Given the description of an element on the screen output the (x, y) to click on. 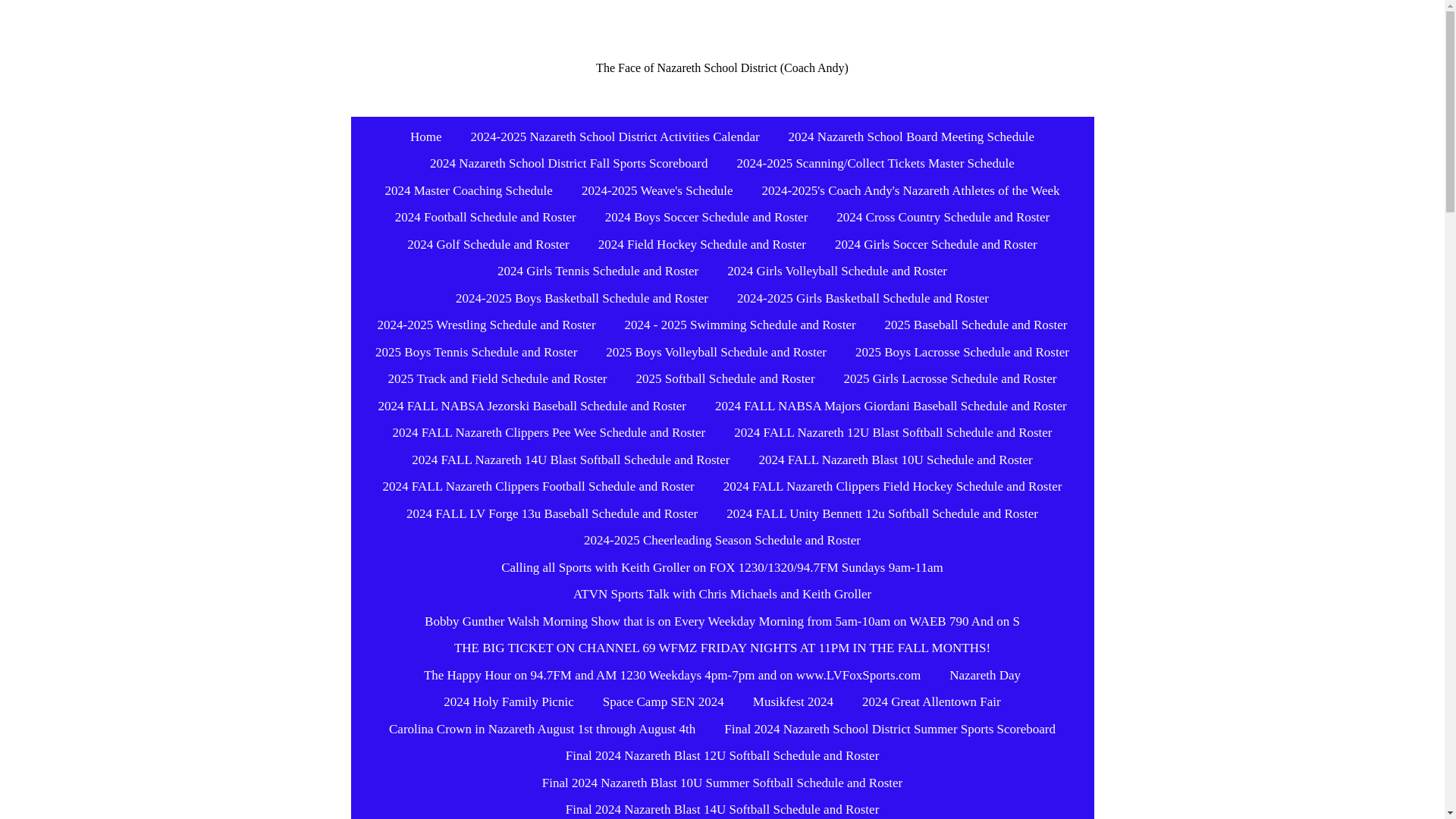
2024 Nazareth School District Fall Sports Scoreboard (568, 163)
2024 FALL Nazareth Clippers Pee Wee Schedule and Roster (548, 432)
2024 Girls Soccer Schedule and Roster (936, 243)
2024 FALL Nazareth Clippers Football Schedule and Roster (538, 486)
2024 Boys Soccer Schedule and Roster (706, 216)
2025 Softball Schedule and Roster (724, 379)
2024 FALL Nazareth 14U Blast Softball Schedule and Roster (570, 459)
2024 FALL Nazareth Clippers Field Hockey Schedule and Roster (893, 486)
2025 Track and Field Schedule and Roster (497, 379)
2024 FALL NABSA Majors Giordani Baseball Schedule and Roster (890, 406)
